Given the description of an element on the screen output the (x, y) to click on. 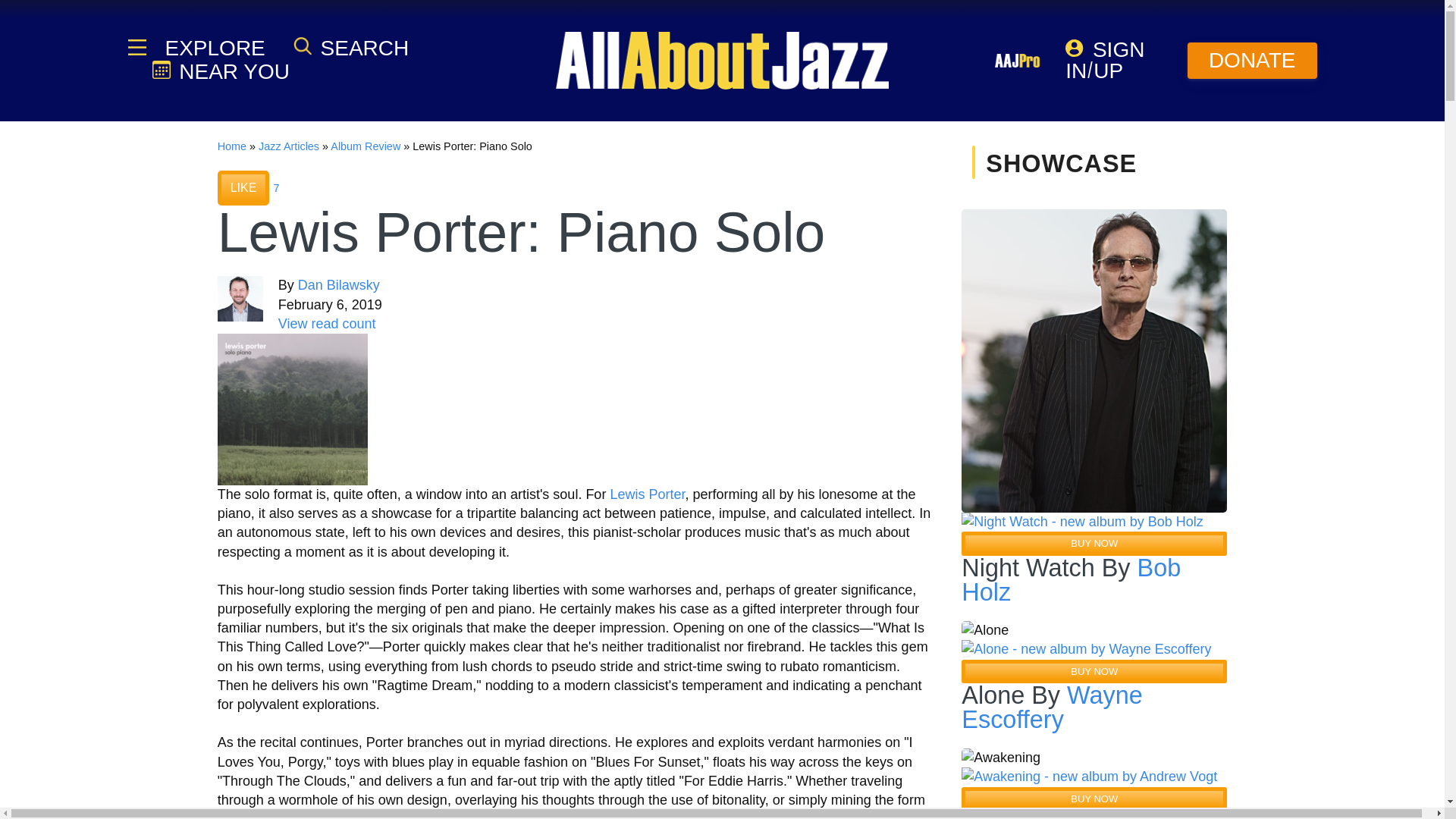
Explore the vast grandeur of All About Jazz (212, 47)
EXPLORE (212, 47)
All About Jazz Pro (1018, 60)
SEARCH (351, 47)
DONATE (1252, 60)
View jazz concerts near you (220, 71)
Article Center (288, 146)
Dan Bilawsky (339, 284)
View Piano Solo at All About Jazz (292, 408)
Lewis Porter: Piano Solo (292, 409)
